Given the description of an element on the screen output the (x, y) to click on. 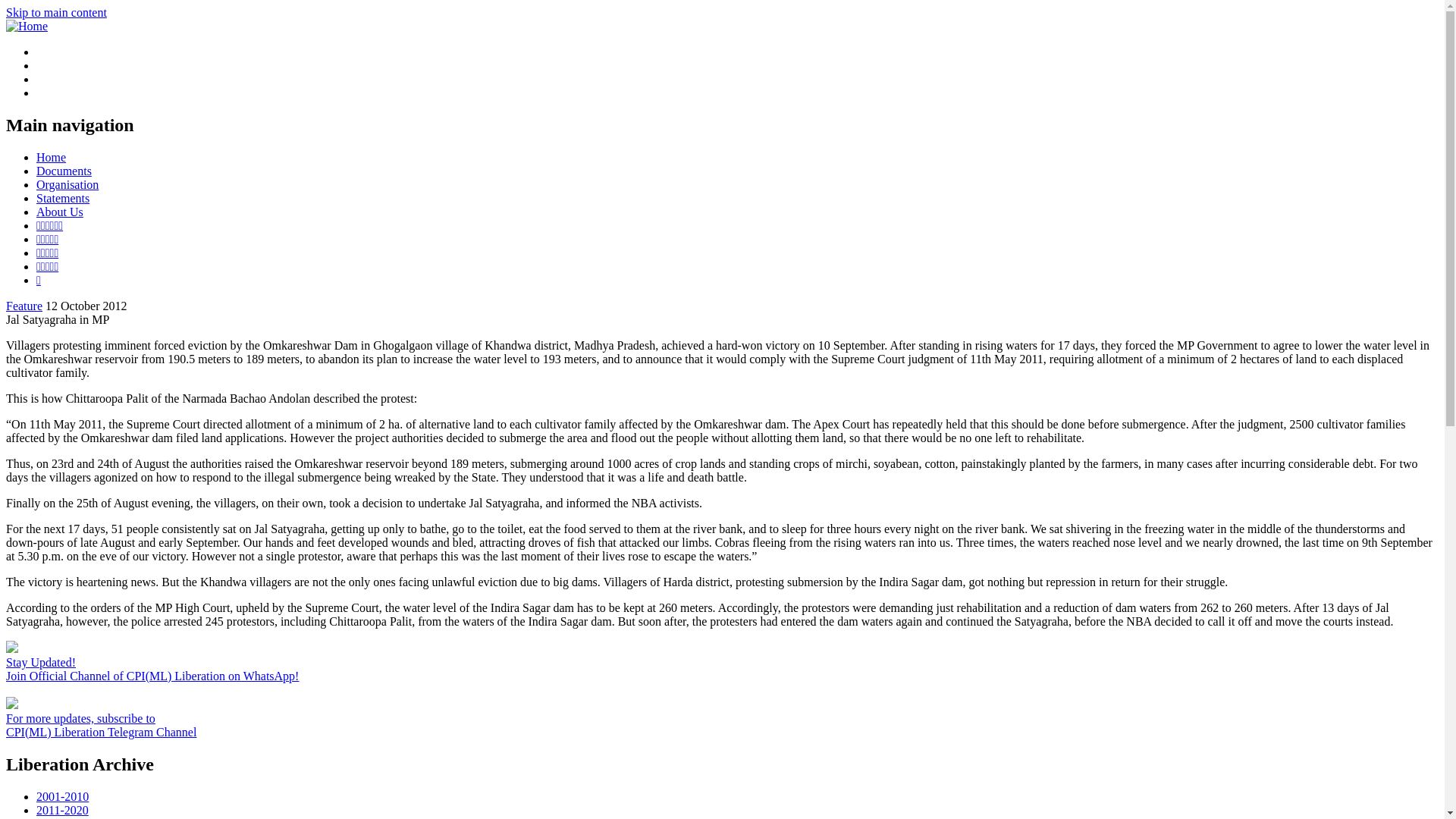
Documents (63, 170)
Skip to main content (55, 11)
Home (26, 25)
Statements (62, 197)
About Us (59, 211)
Party Documents (63, 170)
karnataka web site (47, 266)
Organisation (67, 184)
Feature (23, 305)
Home (50, 156)
2011-2020 (62, 809)
2011 (78, 818)
About Us (59, 211)
2001-2010 (62, 796)
